Given the description of an element on the screen output the (x, y) to click on. 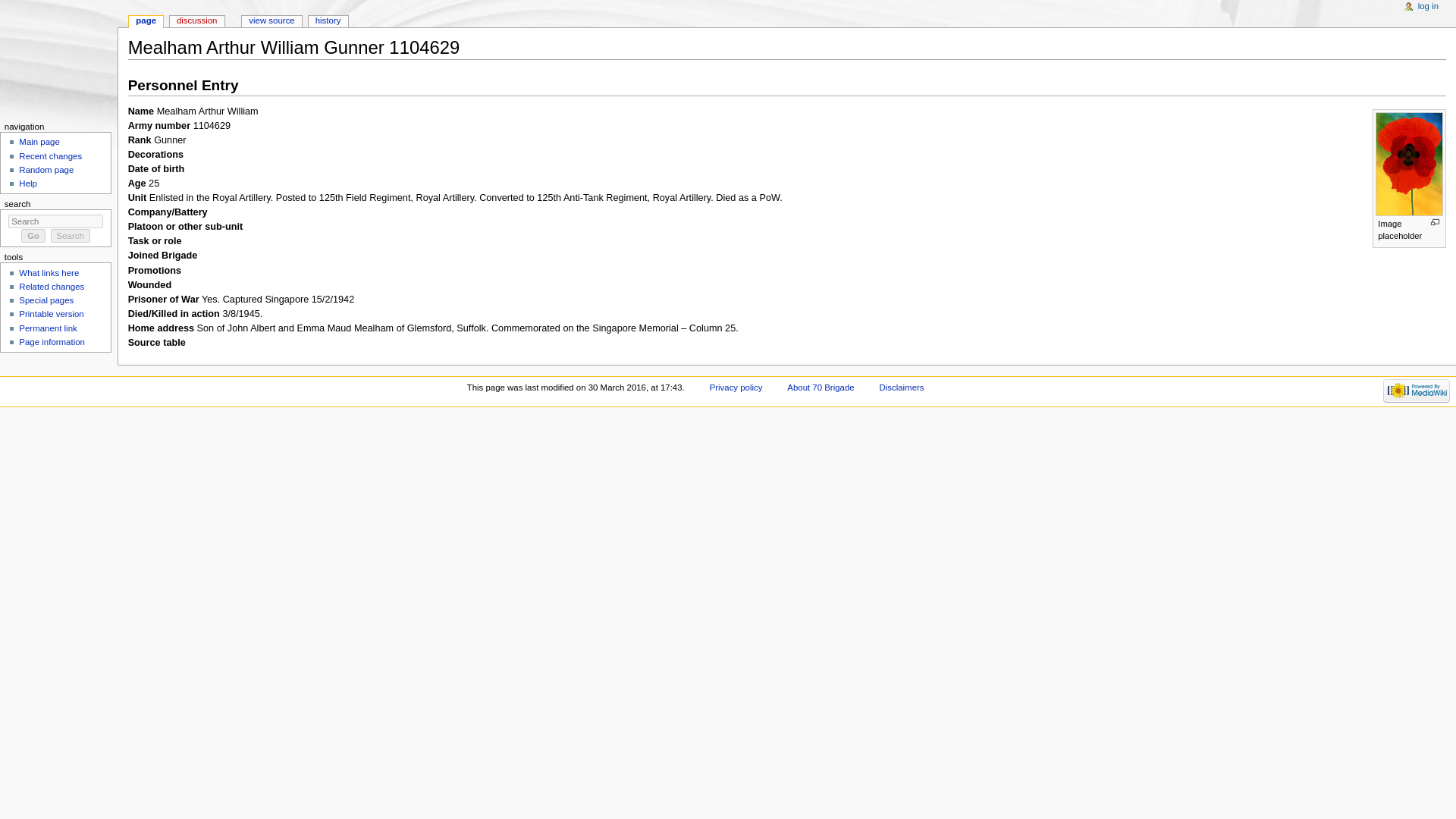
page (146, 21)
Visit the main page (58, 58)
Recent changes (49, 155)
Search (70, 235)
log in (1428, 6)
Page information (51, 341)
Search (70, 235)
Printable version (50, 313)
About 70 Brigade (820, 387)
Privacy policy (736, 387)
Go (33, 235)
Related changes (51, 286)
Go (33, 235)
Go (33, 235)
Go to a page with this exact name if it exists (33, 235)
